Given the description of an element on the screen output the (x, y) to click on. 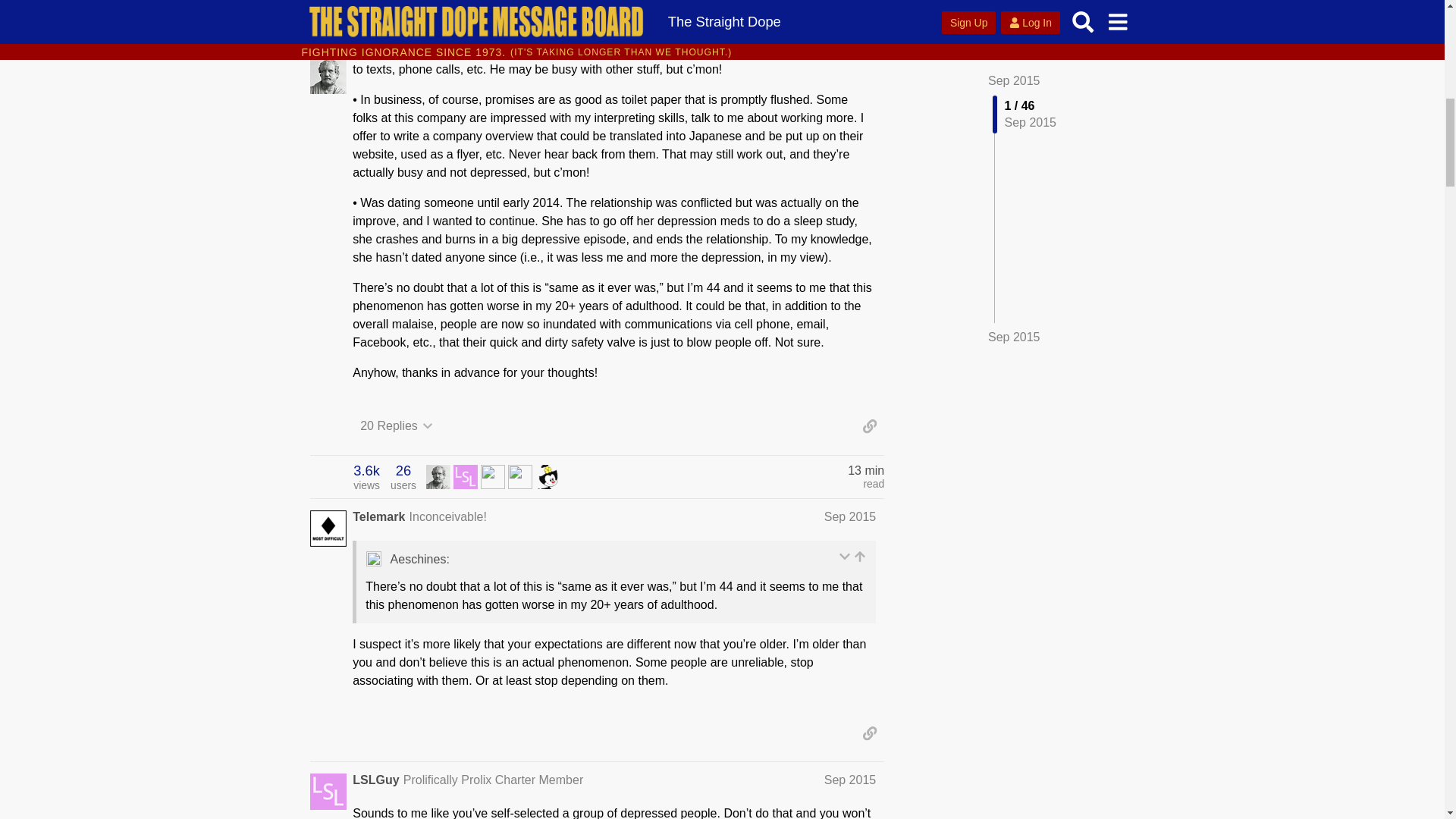
Sep 2015 (850, 779)
Macca26 (492, 476)
share a link to this post (869, 425)
LSLGuy (403, 476)
LSLGuy (375, 780)
Macca26 (464, 475)
Aeschines (492, 475)
Telemark (366, 476)
